Given the description of an element on the screen output the (x, y) to click on. 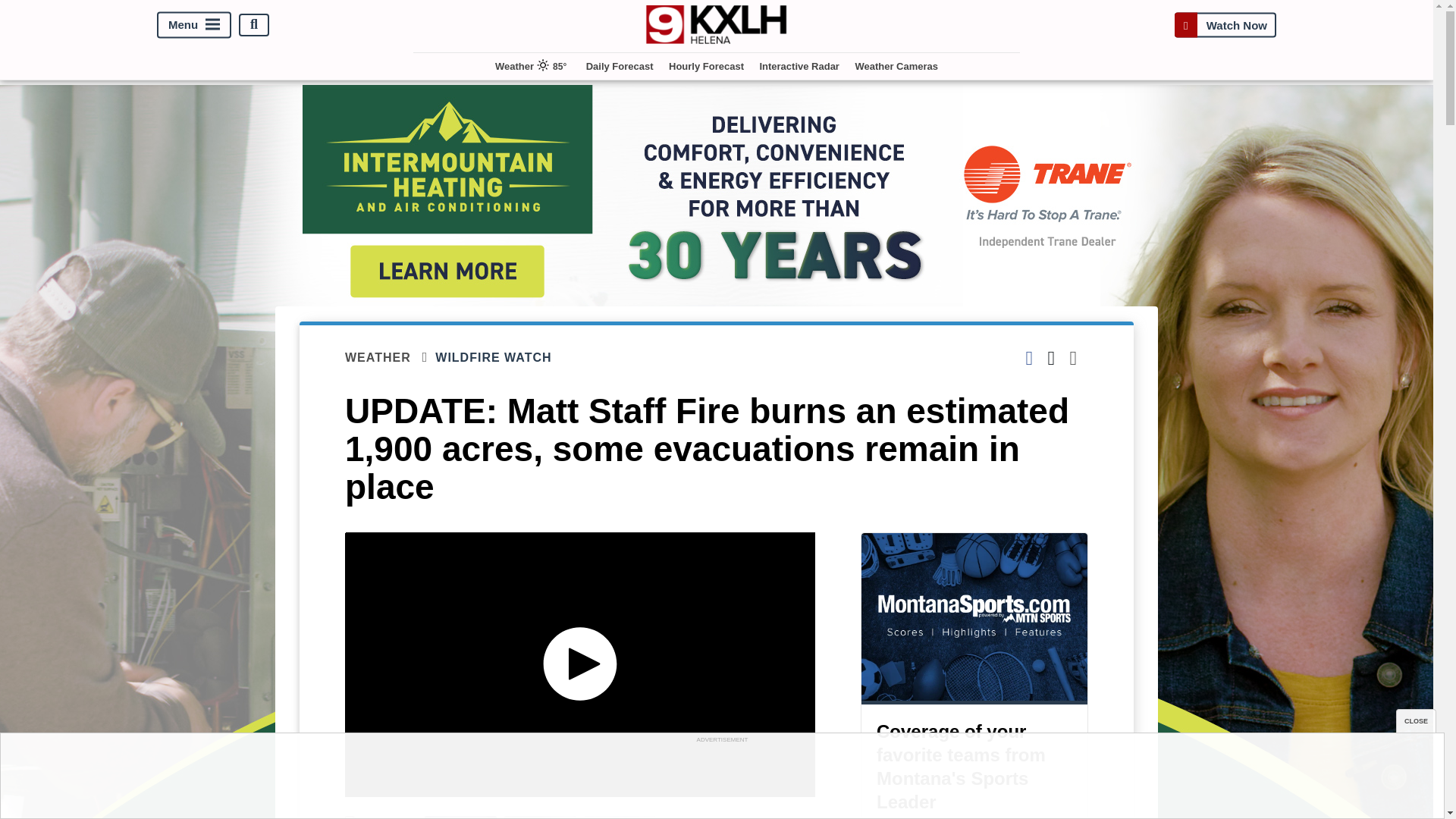
Menu (194, 24)
3rd party ad content (721, 780)
Watch Now (1224, 24)
